Given the description of an element on the screen output the (x, y) to click on. 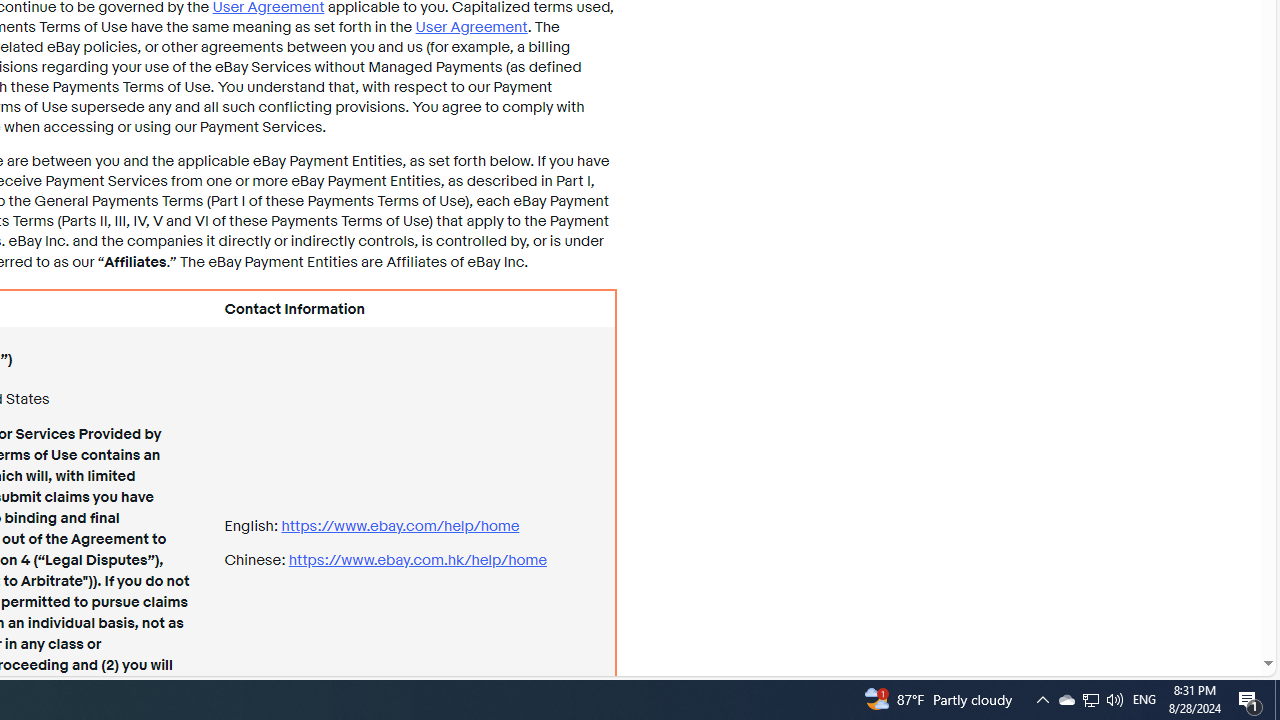
https://www.ebay.com/ help/home (400, 525)
User Agreement (470, 26)
https://www.ebay.com.hk/ help/home (417, 560)
